Given the description of an element on the screen output the (x, y) to click on. 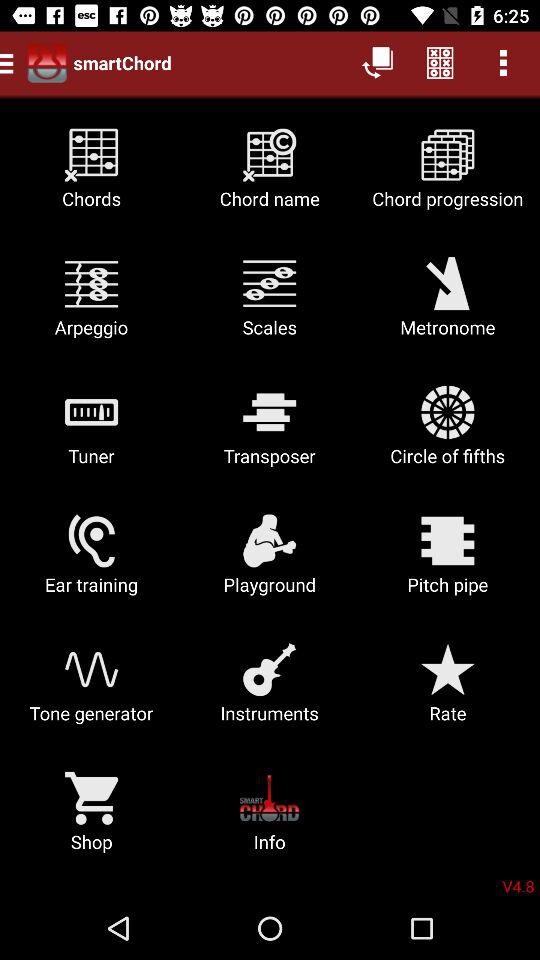
launch icon below ear training (91, 689)
